Given the description of an element on the screen output the (x, y) to click on. 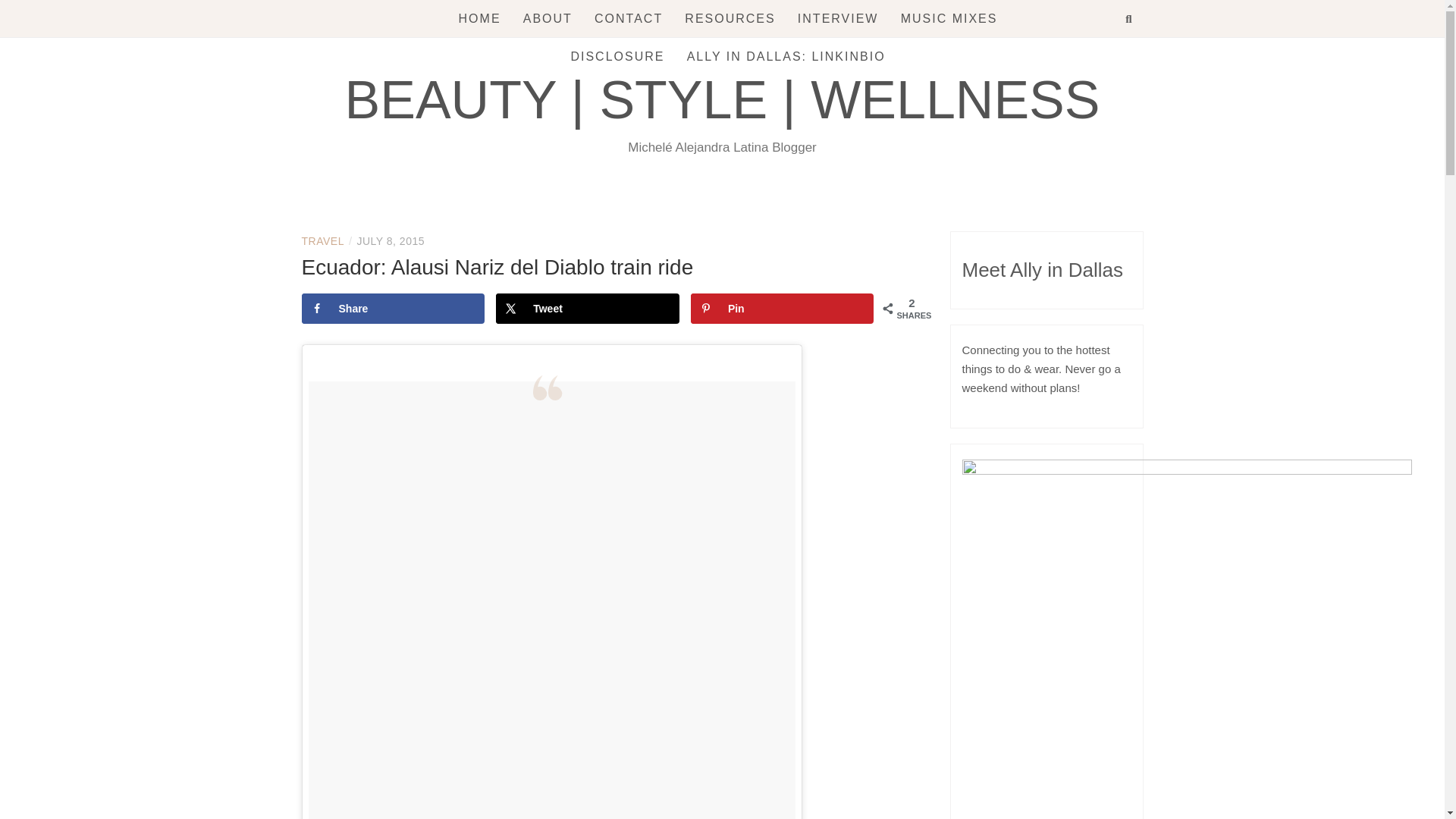
INTERVIEW (838, 18)
Save to Pinterest (782, 308)
Tweet (587, 308)
Share (392, 308)
ALLY IN DALLAS: LINKINBIO (786, 56)
RESOURCES (729, 18)
HOME (479, 18)
TRAVEL (322, 241)
ABOUT (547, 18)
Pin (782, 308)
